Given the description of an element on the screen output the (x, y) to click on. 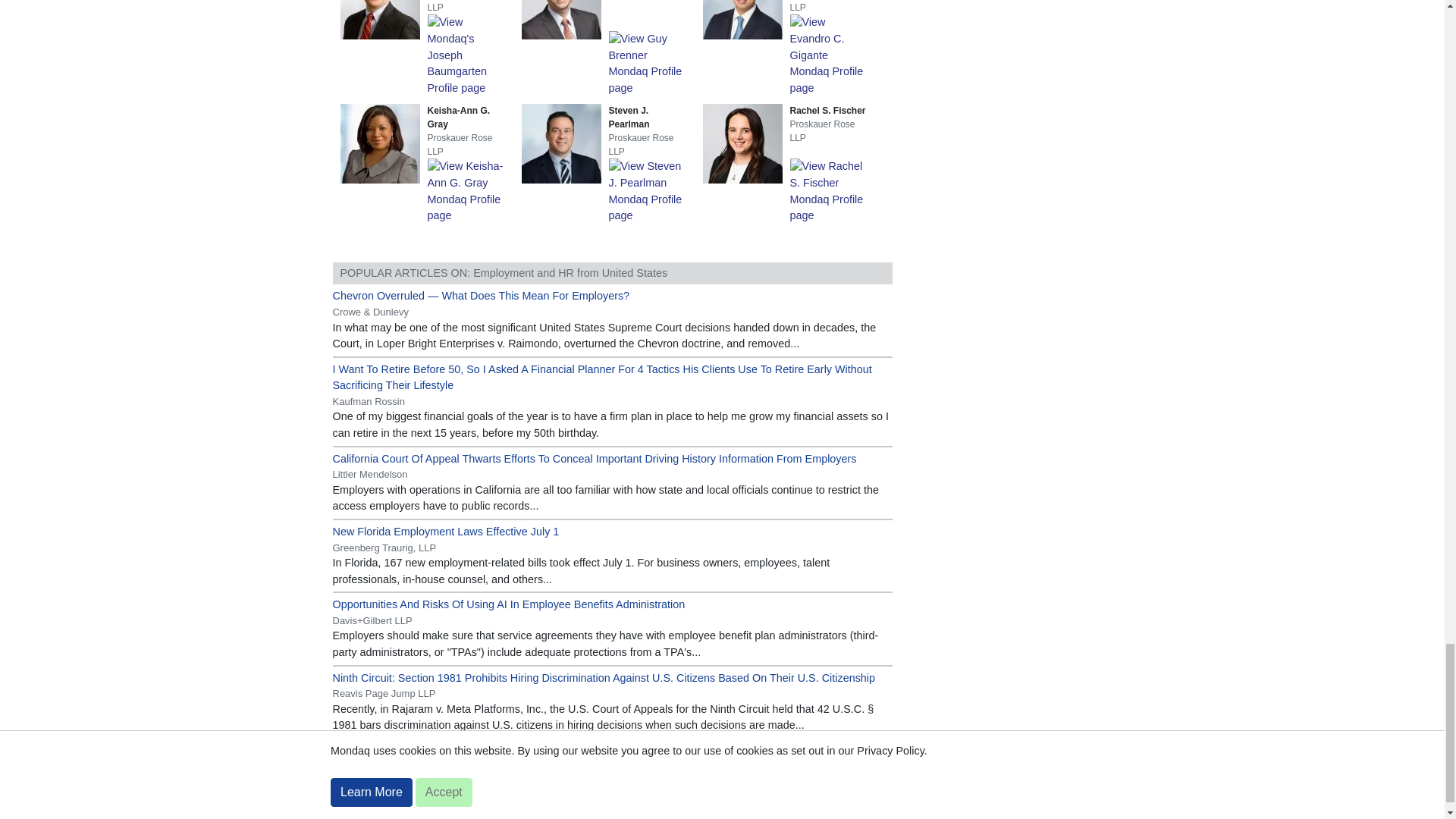
View this authors biography on their website (382, 2)
